Given the description of an element on the screen output the (x, y) to click on. 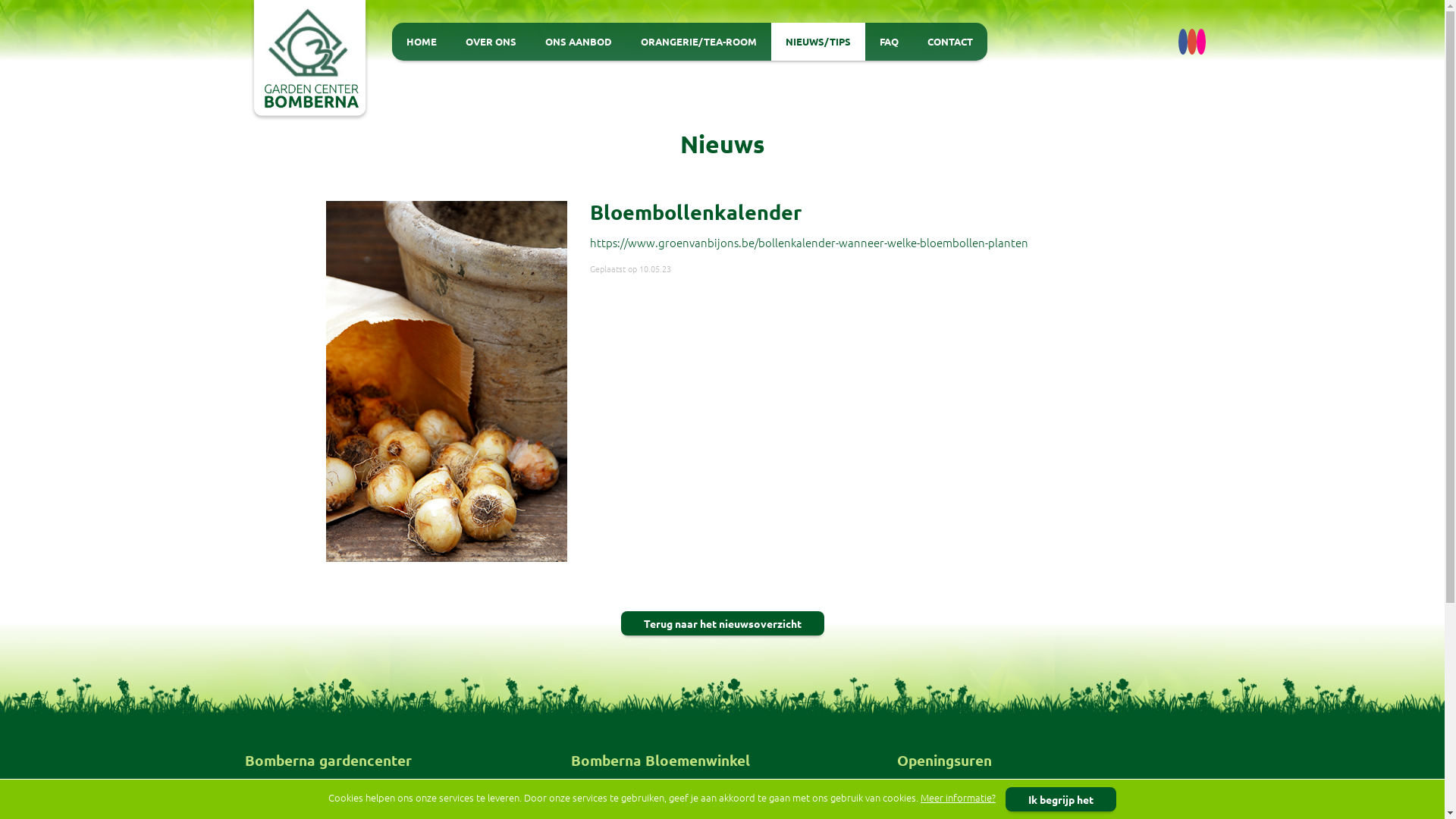
ONS AANBOD Element type: text (578, 41)
Terug naar het nieuwsoverzicht Element type: text (721, 623)
ORANGERIE/TEA-ROOM Element type: text (698, 41)
HOME Element type: text (421, 41)
OVER ONS Element type: text (490, 41)
CONTACT Element type: text (950, 41)
FAQ Element type: text (889, 41)
NIEUWS/TIPS Element type: text (818, 41)
